Given the description of an element on the screen output the (x, y) to click on. 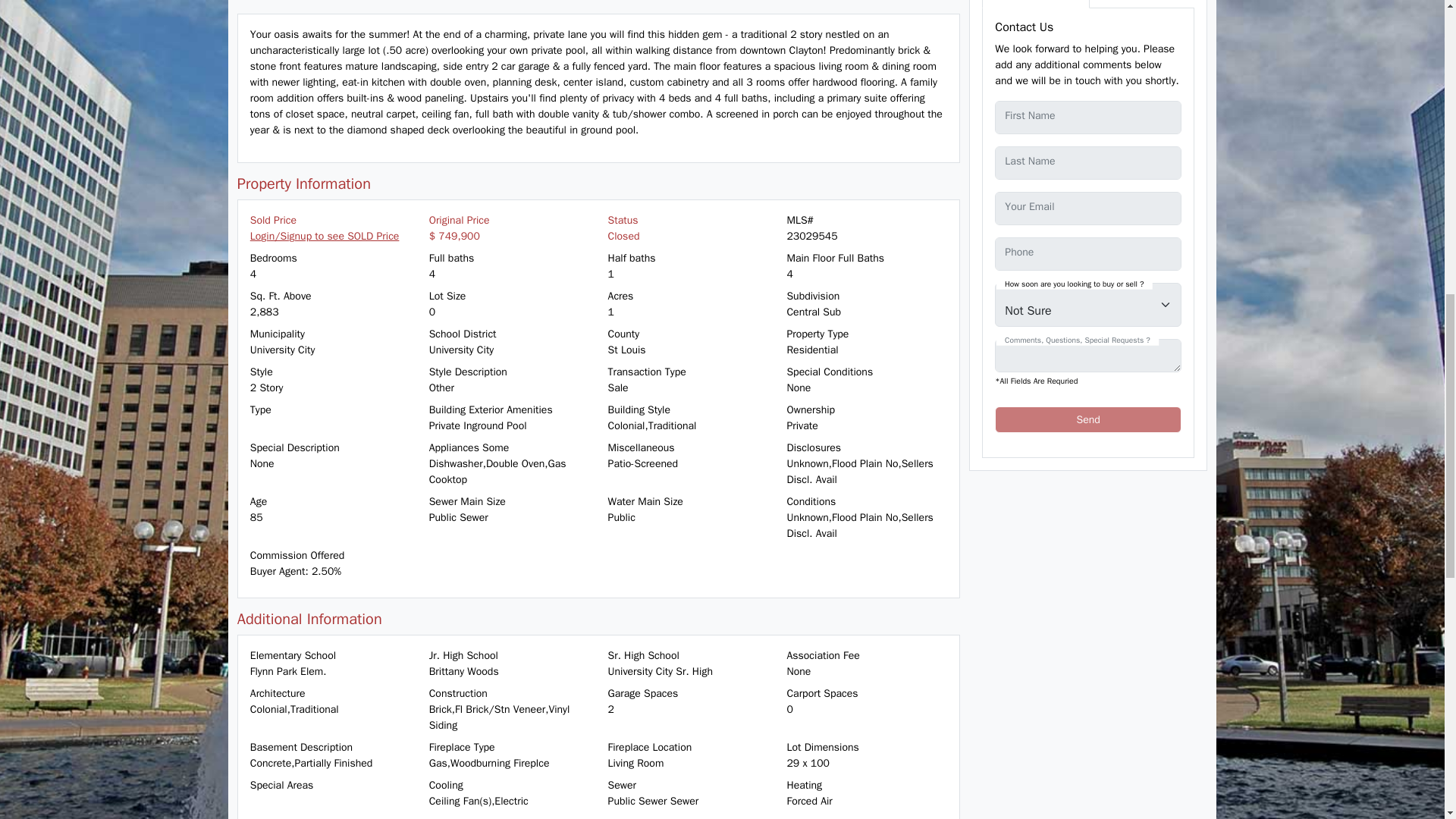
Schedule Tour (1129, 4)
Request Information (1035, 4)
Send (1087, 419)
